Given the description of an element on the screen output the (x, y) to click on. 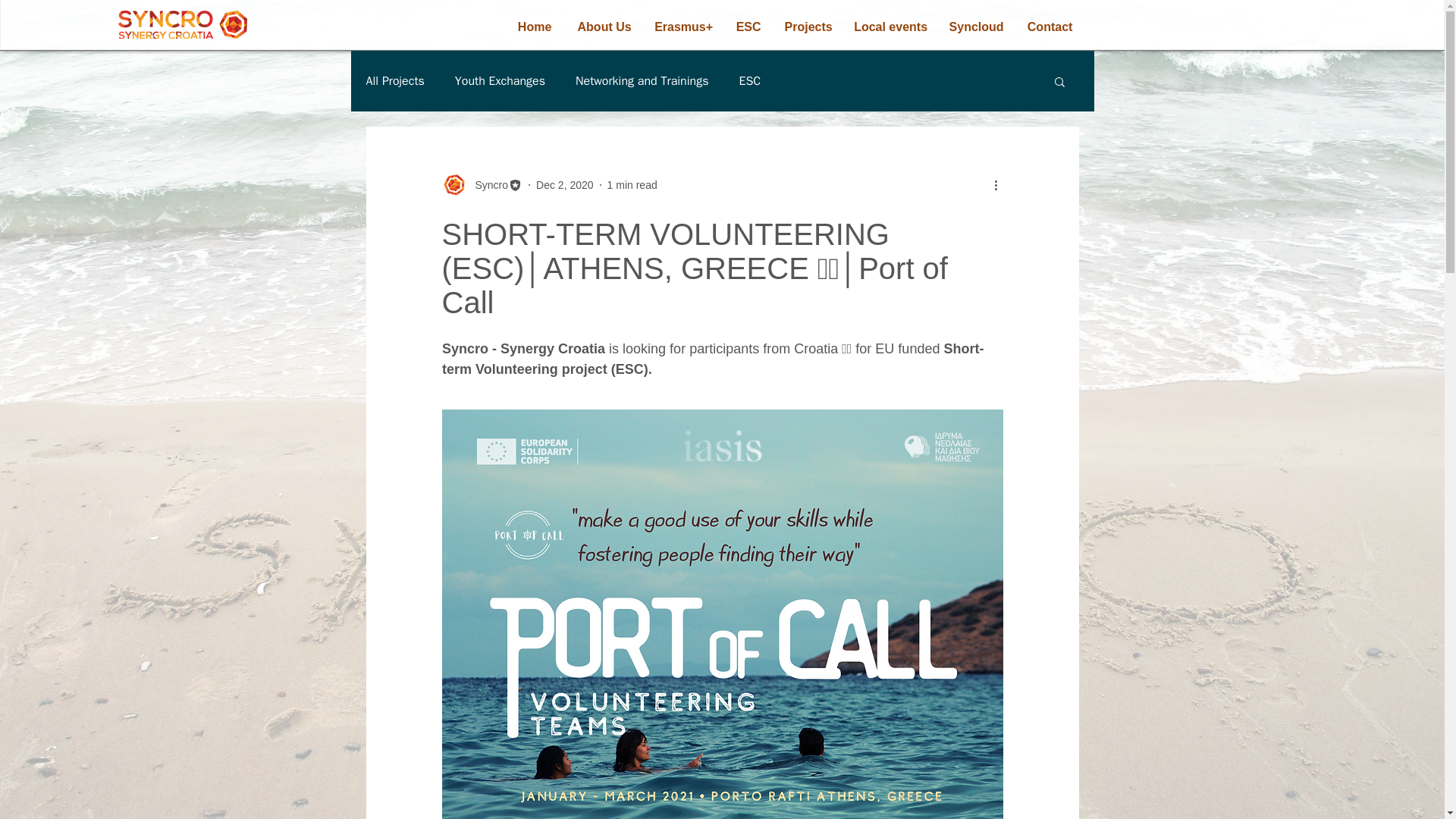
Projects (808, 26)
Home (534, 26)
Dec 2, 2020 (564, 184)
Syncro (486, 185)
ESC (748, 26)
Networking and Trainings (641, 80)
ESC (749, 80)
All Projects (394, 80)
1 min read (632, 184)
About Us (604, 26)
Youth Exchanges (499, 80)
